Given the description of an element on the screen output the (x, y) to click on. 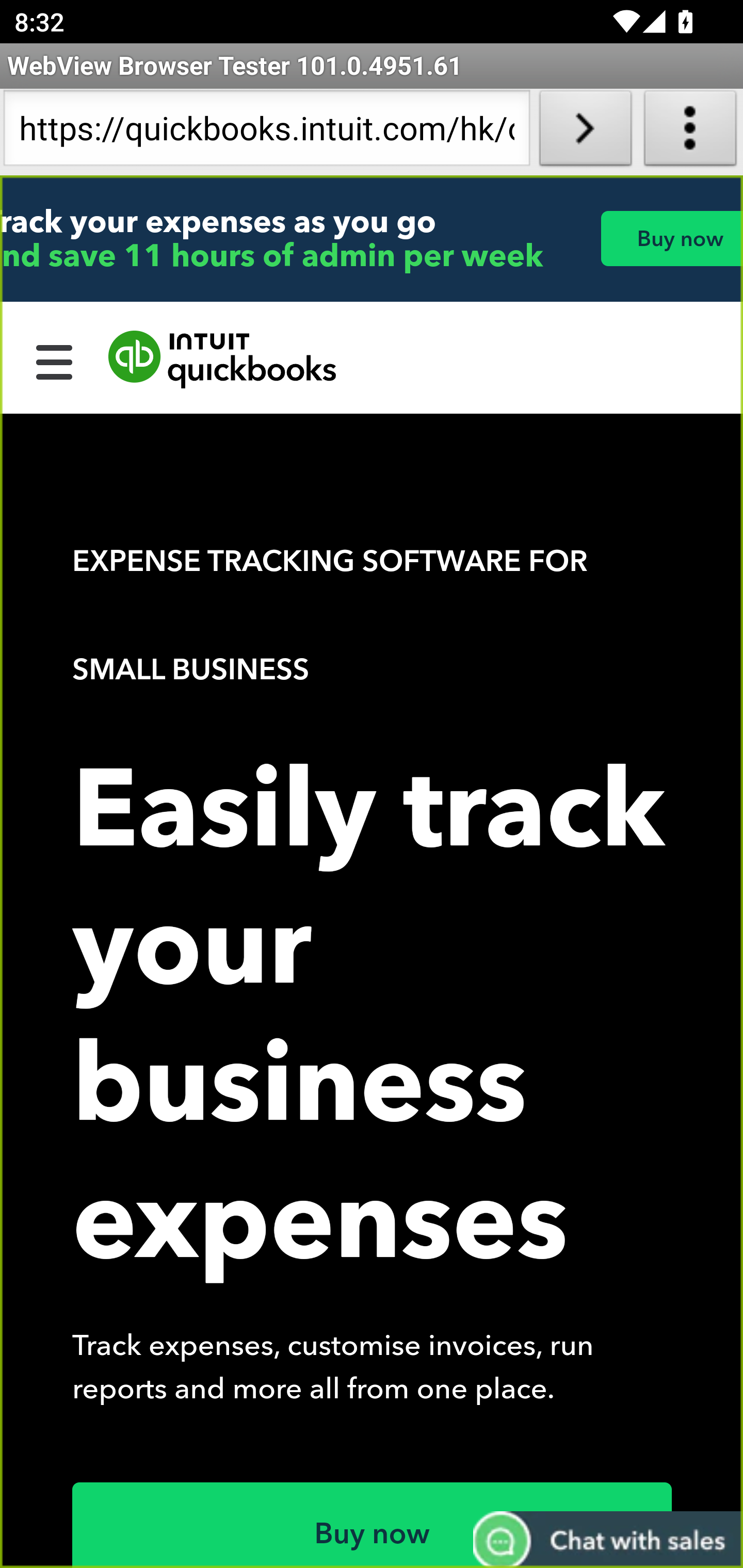
Load URL (585, 132)
About WebView (690, 132)
Buy now (671, 238)
quickbooks-mobile-burger (54, 359)
quickbooks (222, 359)
Buy now (372, 1524)
